Given the description of an element on the screen output the (x, y) to click on. 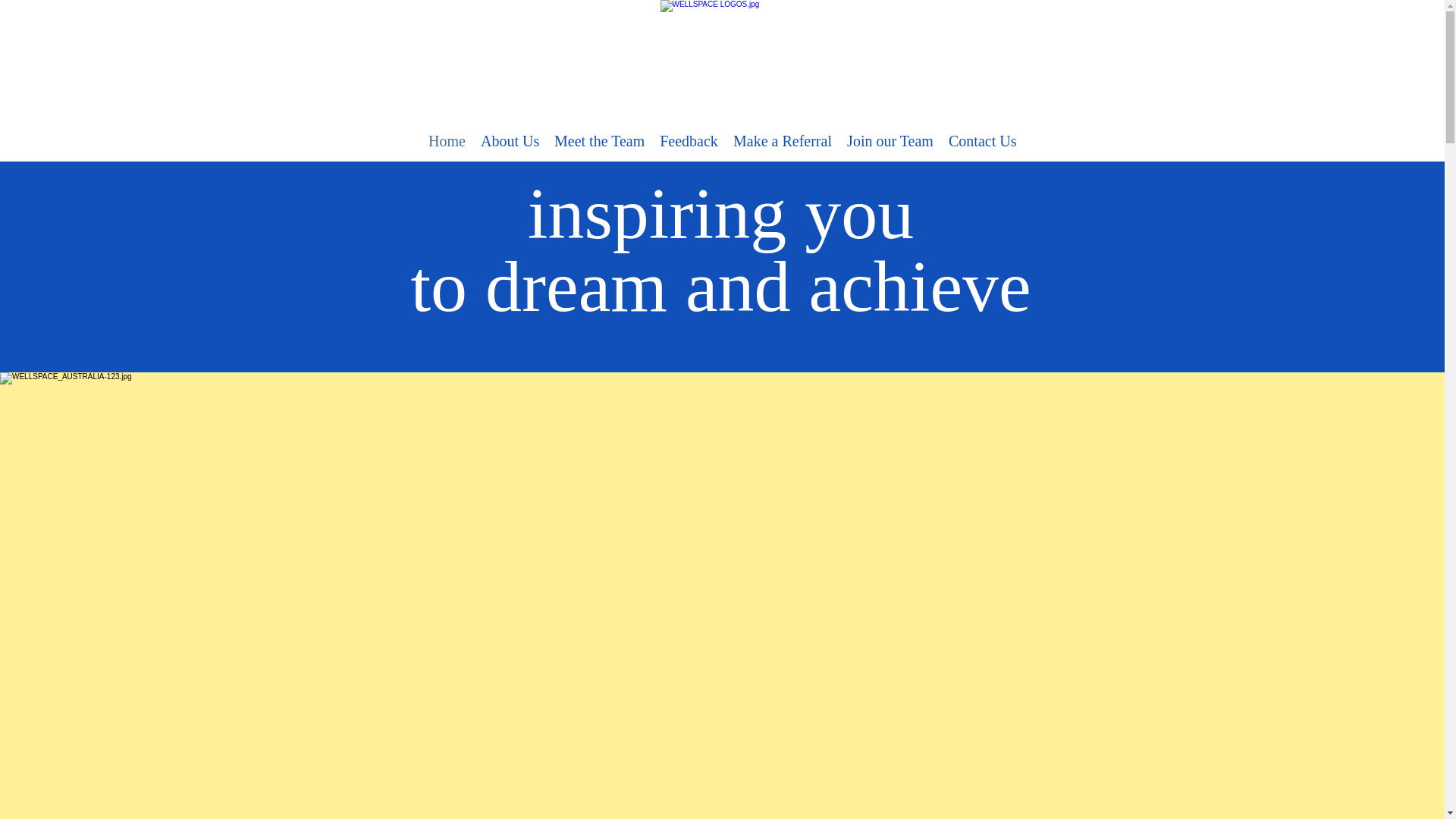
Join our Team (890, 140)
Meet the Team (599, 140)
Contact Us (981, 140)
About Us (510, 140)
Home (446, 140)
Make a Referral (782, 140)
Feedback (688, 140)
